Given the description of an element on the screen output the (x, y) to click on. 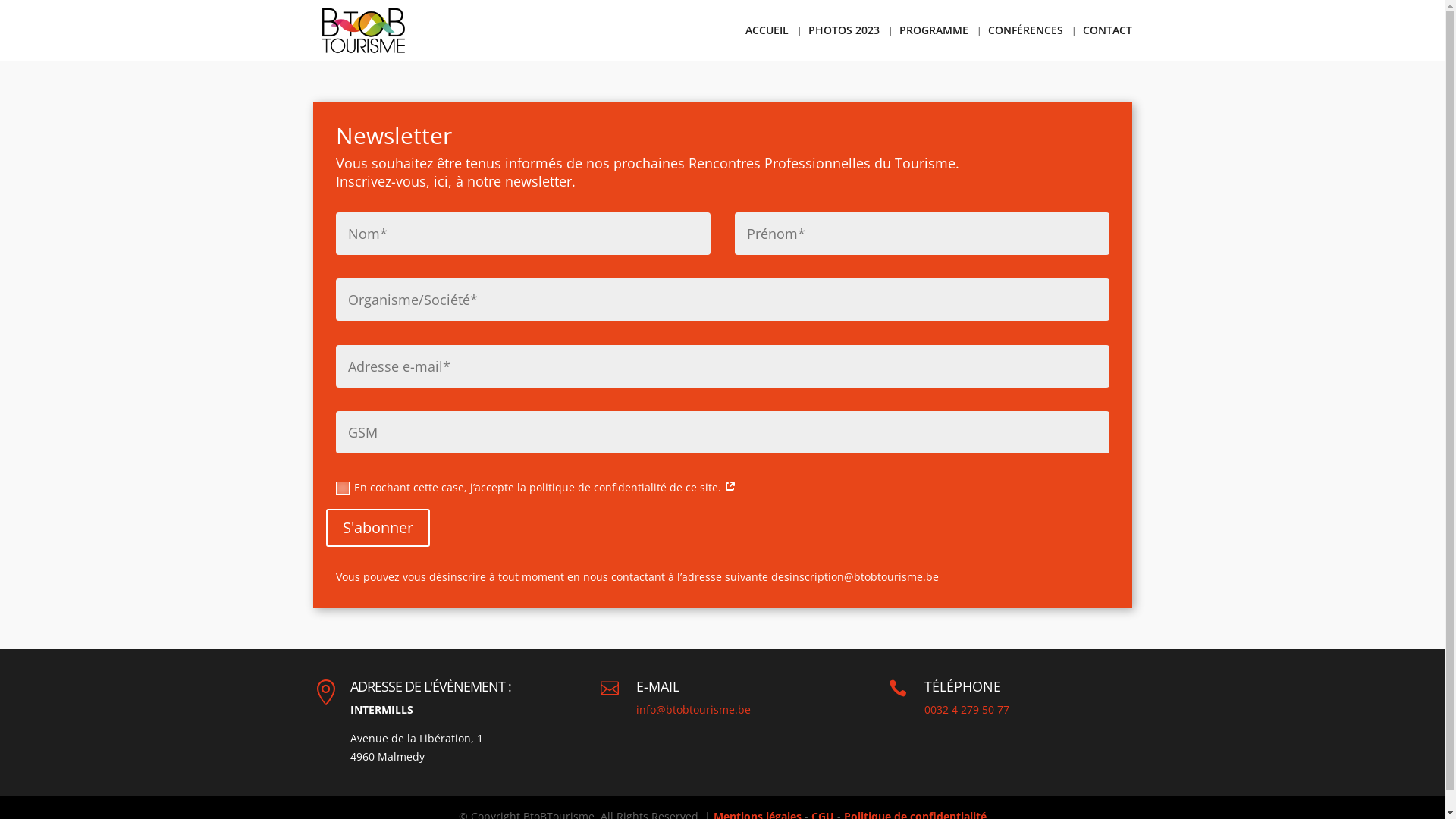
info@btobtourisme.be Element type: text (693, 709)
S'abonner Element type: text (377, 527)
CONTACT Element type: text (1107, 42)
desinscription@btobtourisme.be Element type: text (854, 576)
0032 4 279 50 77 Element type: text (966, 709)
PHOTOS 2023 Element type: text (843, 42)
ACCUEIL Element type: text (765, 42)
PROGRAMME Element type: text (933, 42)
